Given the description of an element on the screen output the (x, y) to click on. 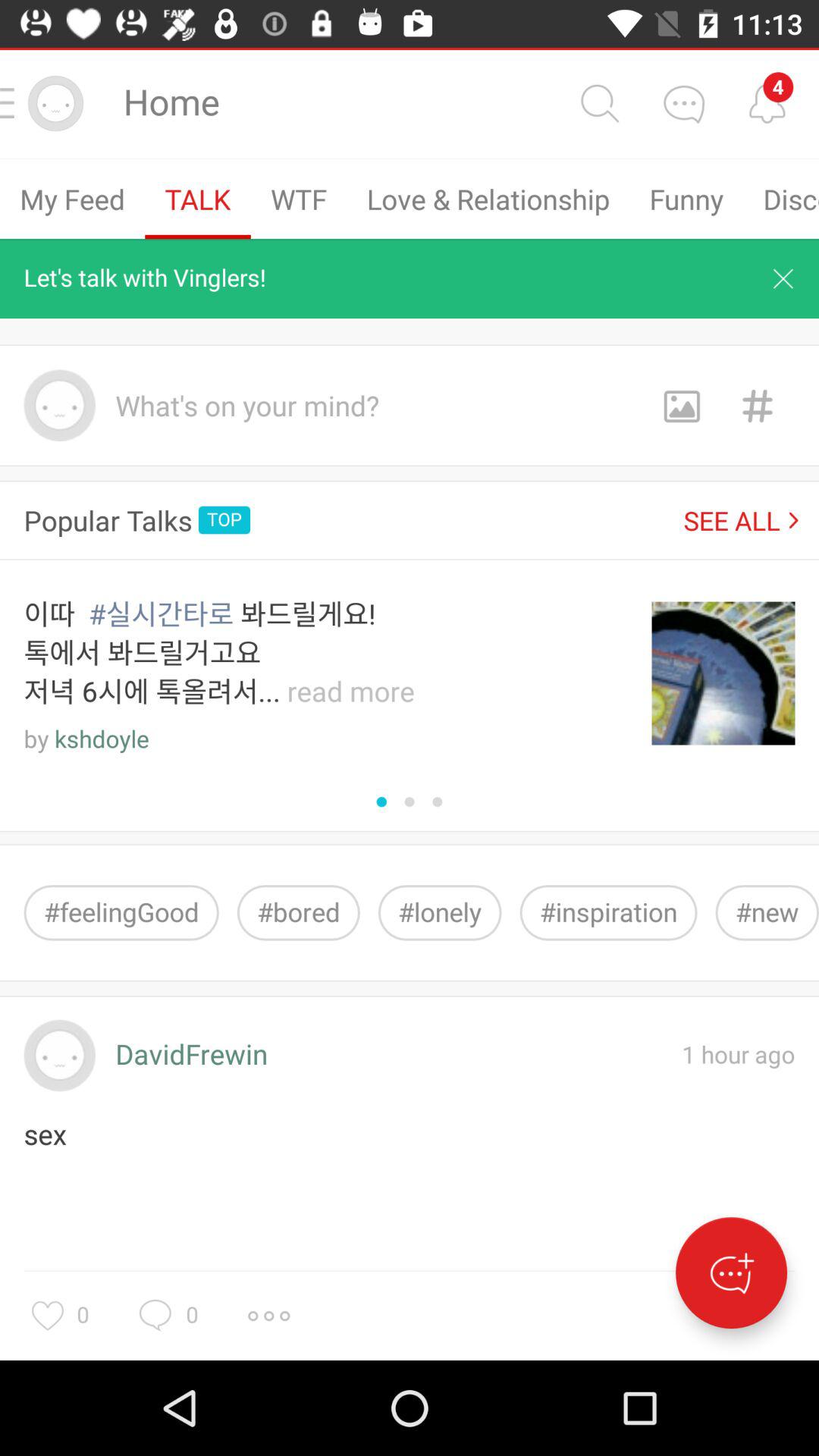
turn on the icon next to #inspiration item (767, 912)
